Given the description of an element on the screen output the (x, y) to click on. 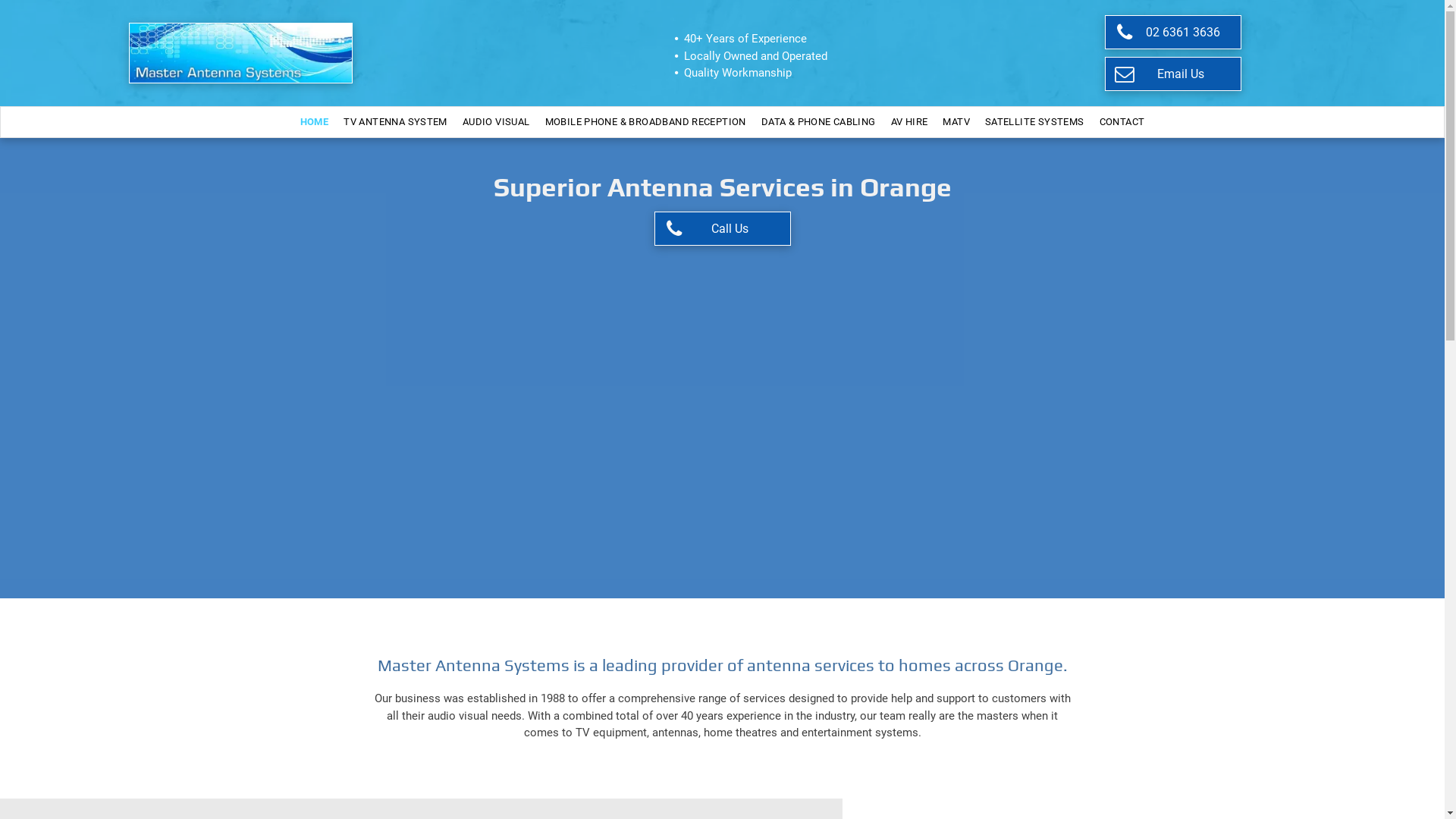
Call Us Element type: text (721, 228)
AUDIO VISUAL Element type: text (496, 121)
HOME Element type: text (314, 121)
Email Us Element type: text (1172, 73)
SATELLITE SYSTEMS Element type: text (1034, 121)
TV ANTENNA SYSTEM Element type: text (395, 121)
CONTACT Element type: text (1122, 121)
DATA & PHONE CABLING Element type: text (818, 121)
AV HIRE Element type: text (909, 121)
MATV Element type: text (956, 121)
02 6361 3636 Element type: text (1172, 32)
MOBILE PHONE & BROADBAND RECEPTION Element type: text (645, 121)
